Given the description of an element on the screen output the (x, y) to click on. 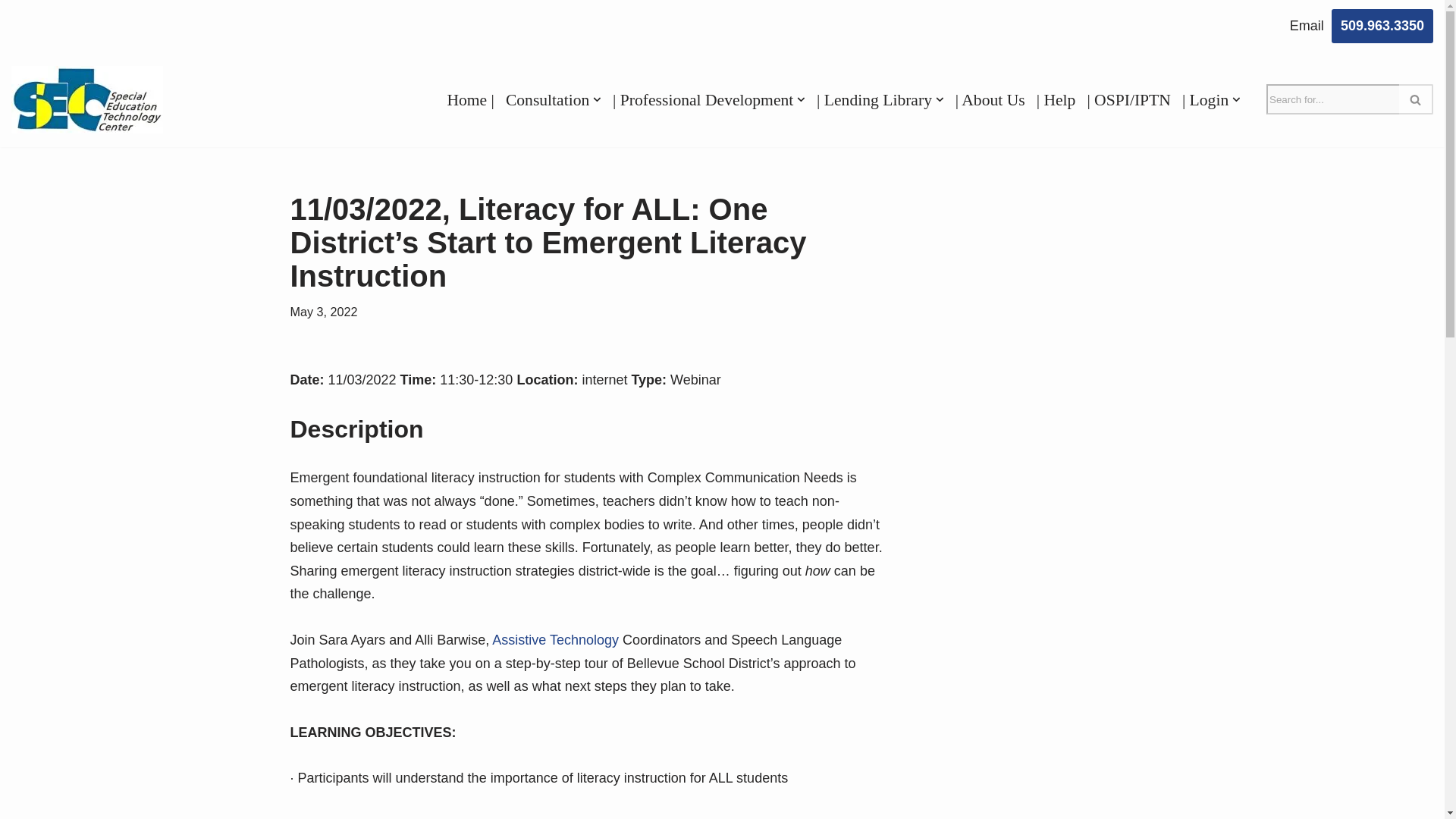
Consultation (547, 99)
Email (1306, 25)
Skip to content (11, 31)
509.963.3350 (1382, 26)
